Given the description of an element on the screen output the (x, y) to click on. 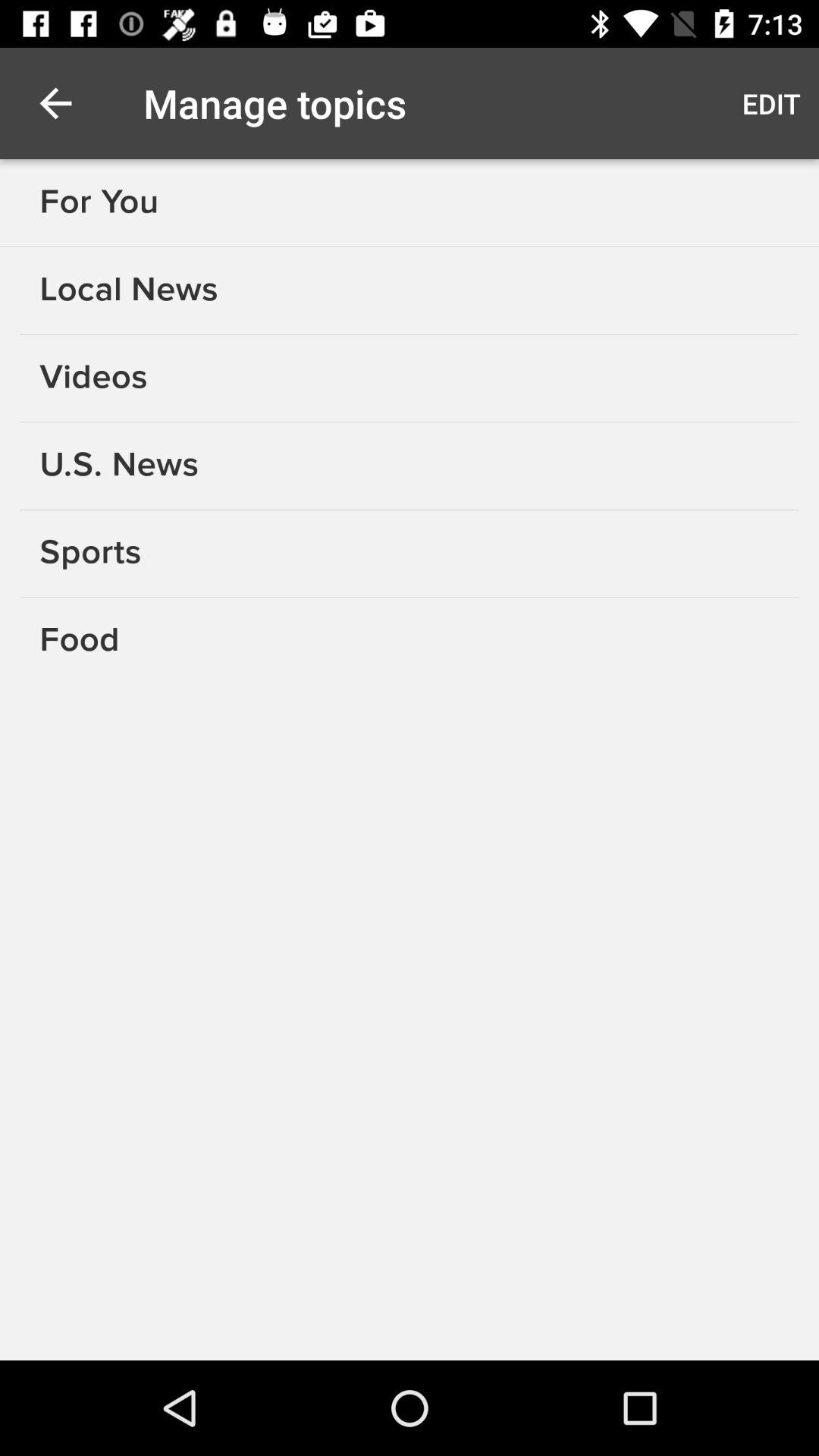
swipe to the edit icon (771, 103)
